Given the description of an element on the screen output the (x, y) to click on. 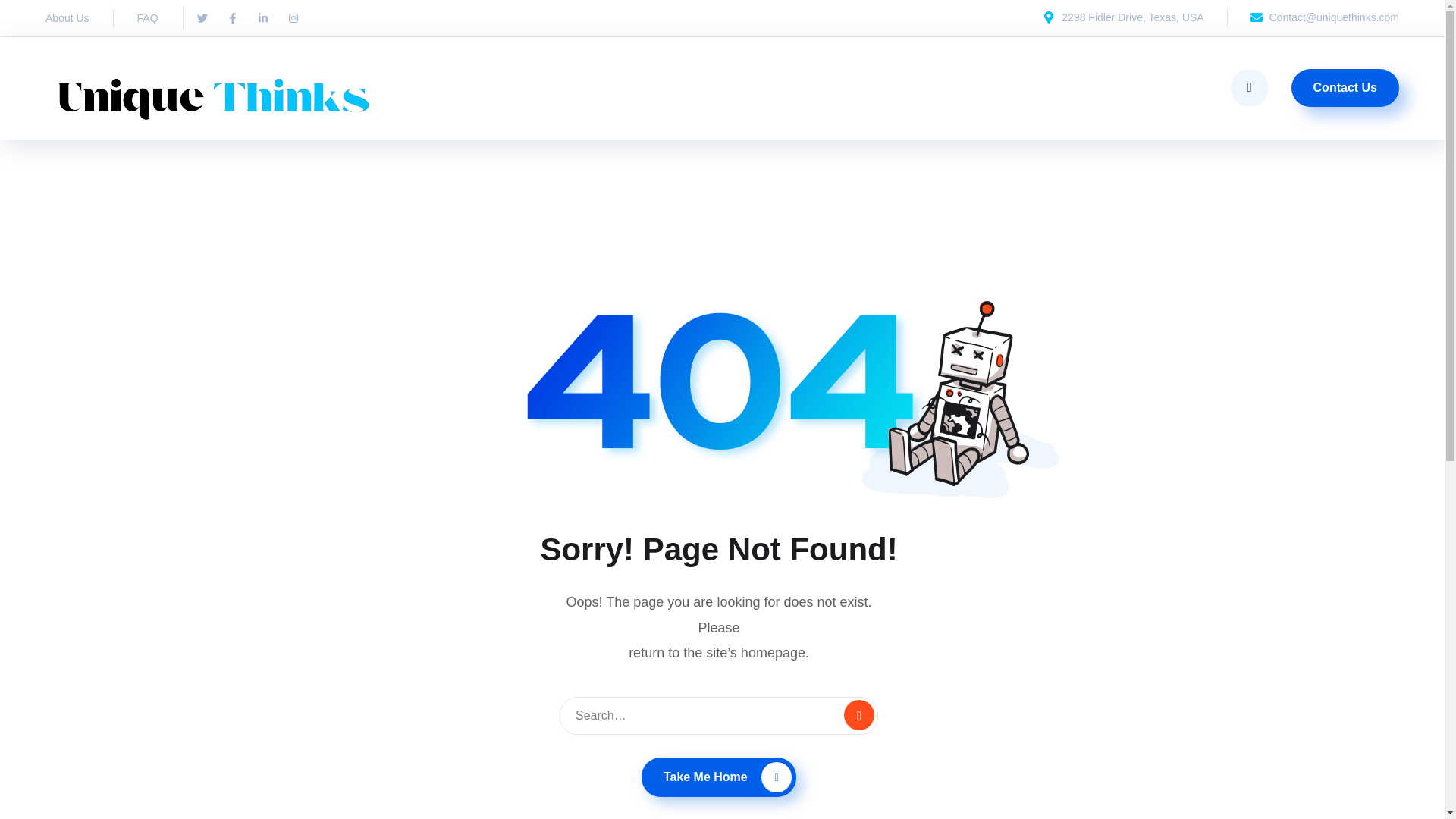
Contact Us (1345, 87)
Take Me Home (719, 776)
FAQ (147, 17)
2298 Fidler Drive, Texas, USA (1123, 17)
About Us (66, 17)
